Given the description of an element on the screen output the (x, y) to click on. 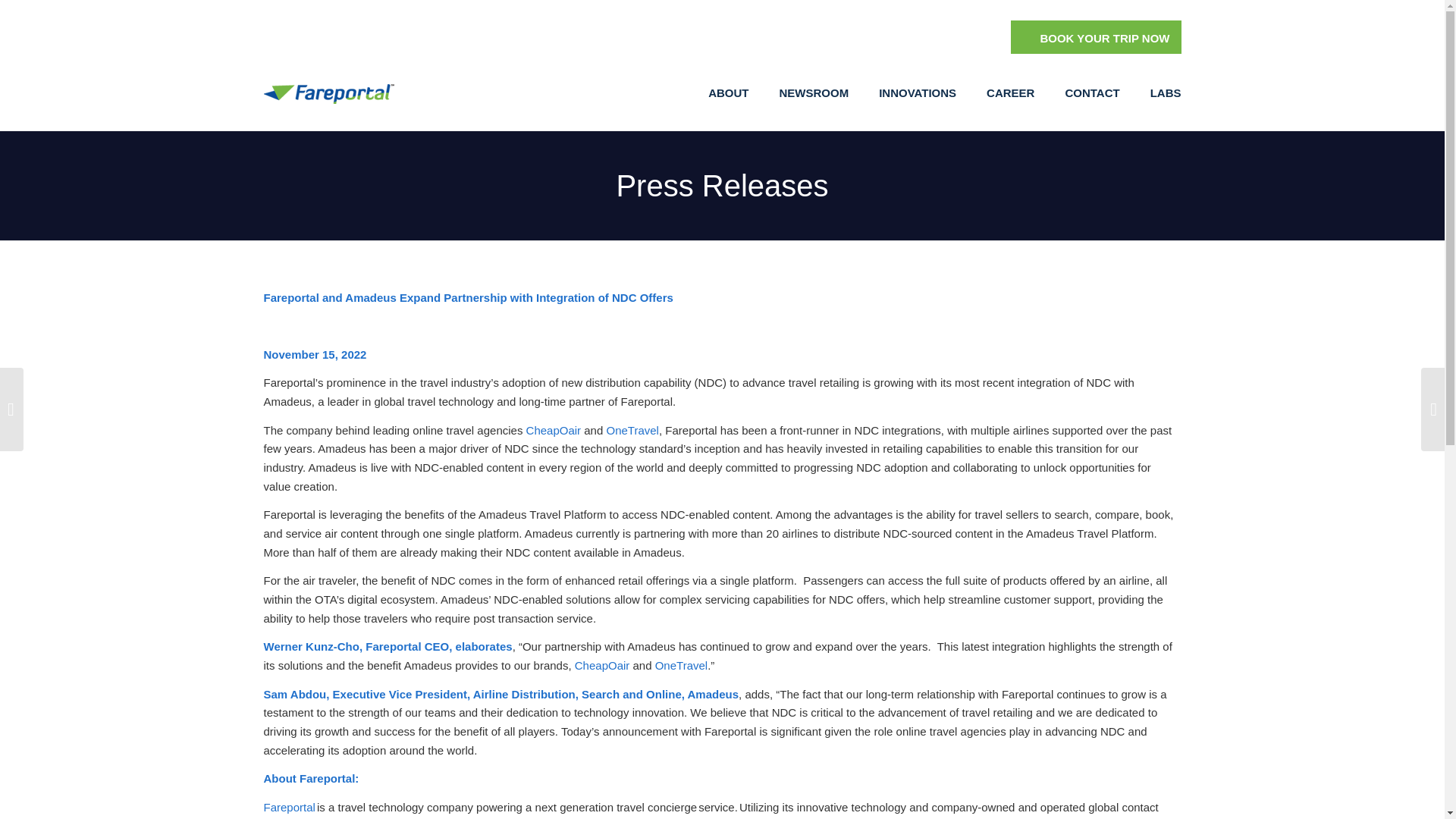
Fareportal (289, 807)
ABOUT (727, 92)
CAREER (1010, 92)
NEWSROOM (812, 92)
BOOK YOUR TRIP NOW (1095, 37)
CheapOair (552, 429)
CONTACT (1091, 92)
INNOVATIONS (917, 92)
OneTravel (631, 429)
OneTravel (681, 665)
